Given the description of an element on the screen output the (x, y) to click on. 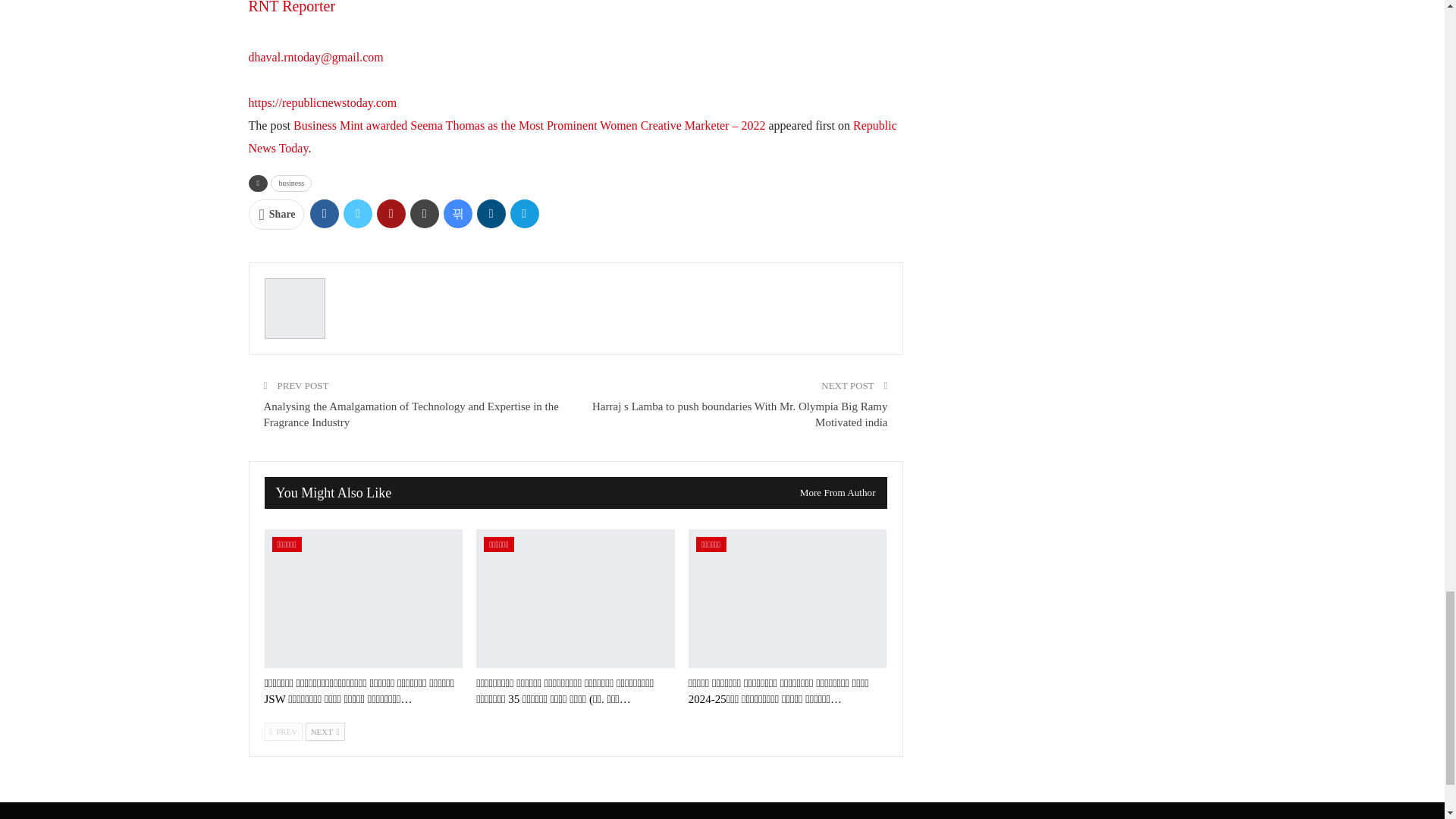
Next (325, 731)
Previous (282, 731)
RNT Reporter (292, 17)
